Given the description of an element on the screen output the (x, y) to click on. 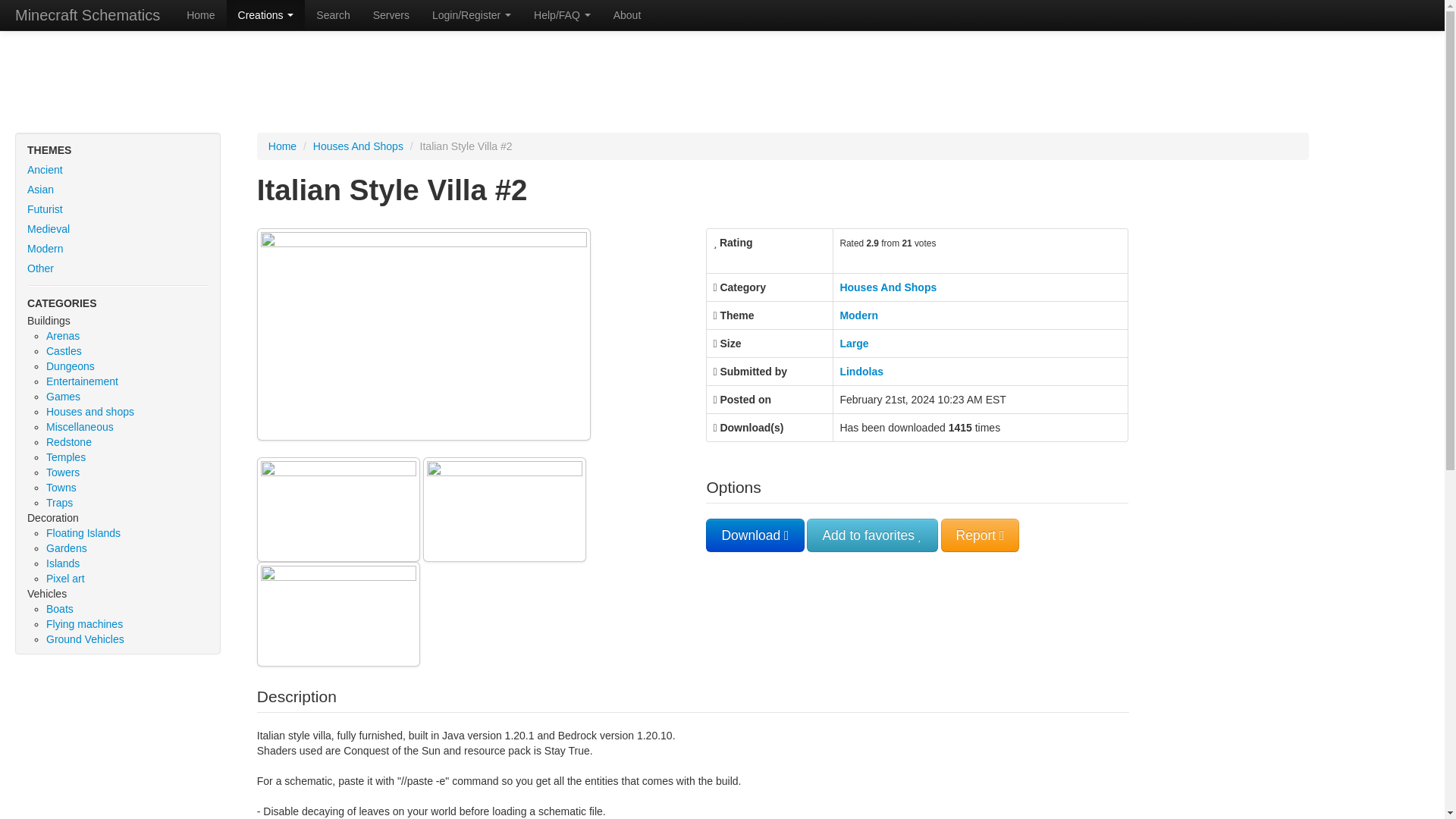
Arenas (63, 336)
Castles (63, 350)
Search (332, 15)
Minecraft Schematics (87, 15)
Modern (117, 248)
Dungeons (70, 366)
Ancient (117, 169)
Medieval (117, 229)
Creations (266, 15)
Futurist (117, 209)
